Given the description of an element on the screen output the (x, y) to click on. 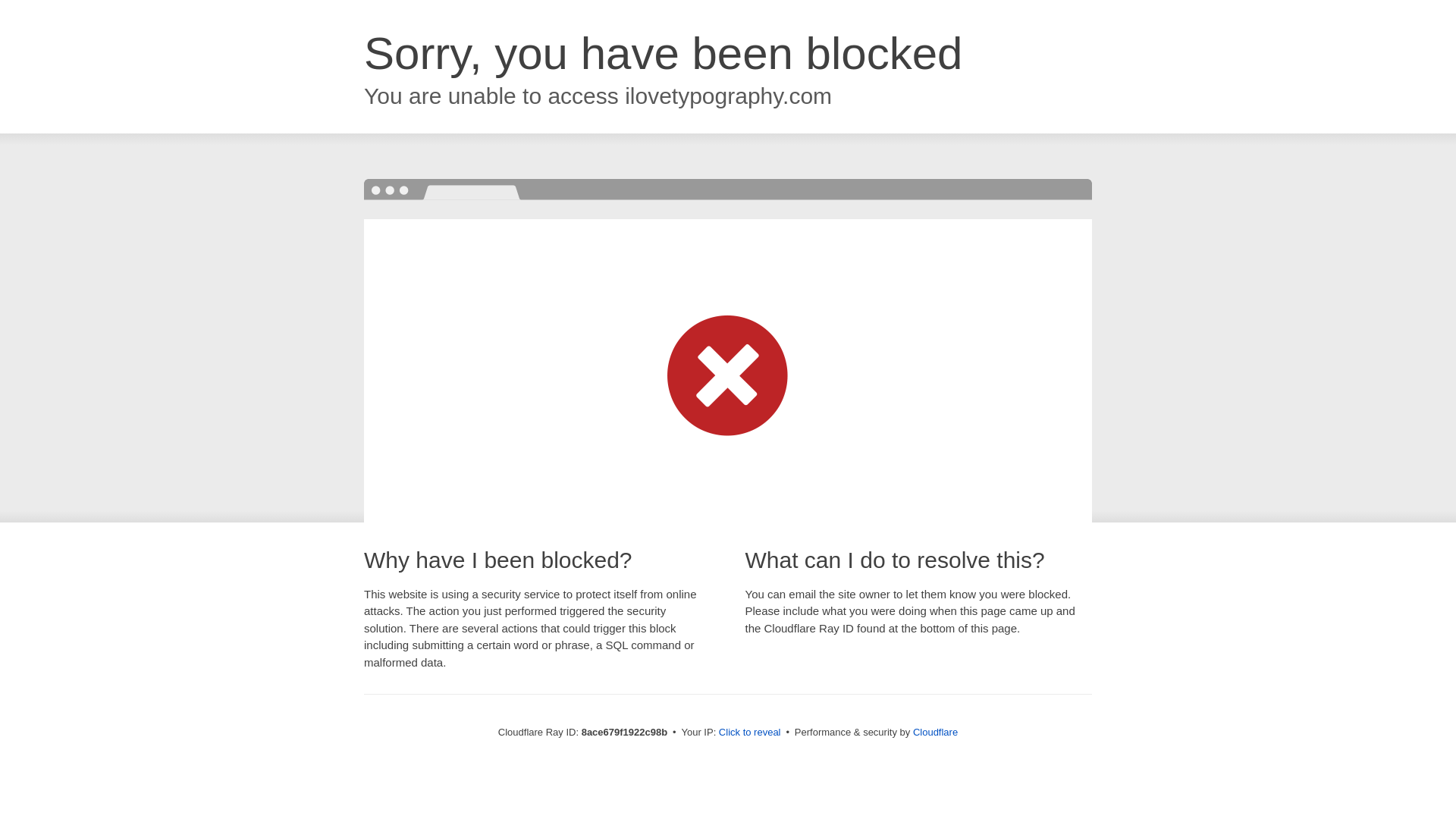
Click to reveal (749, 732)
Cloudflare (935, 731)
